Given the description of an element on the screen output the (x, y) to click on. 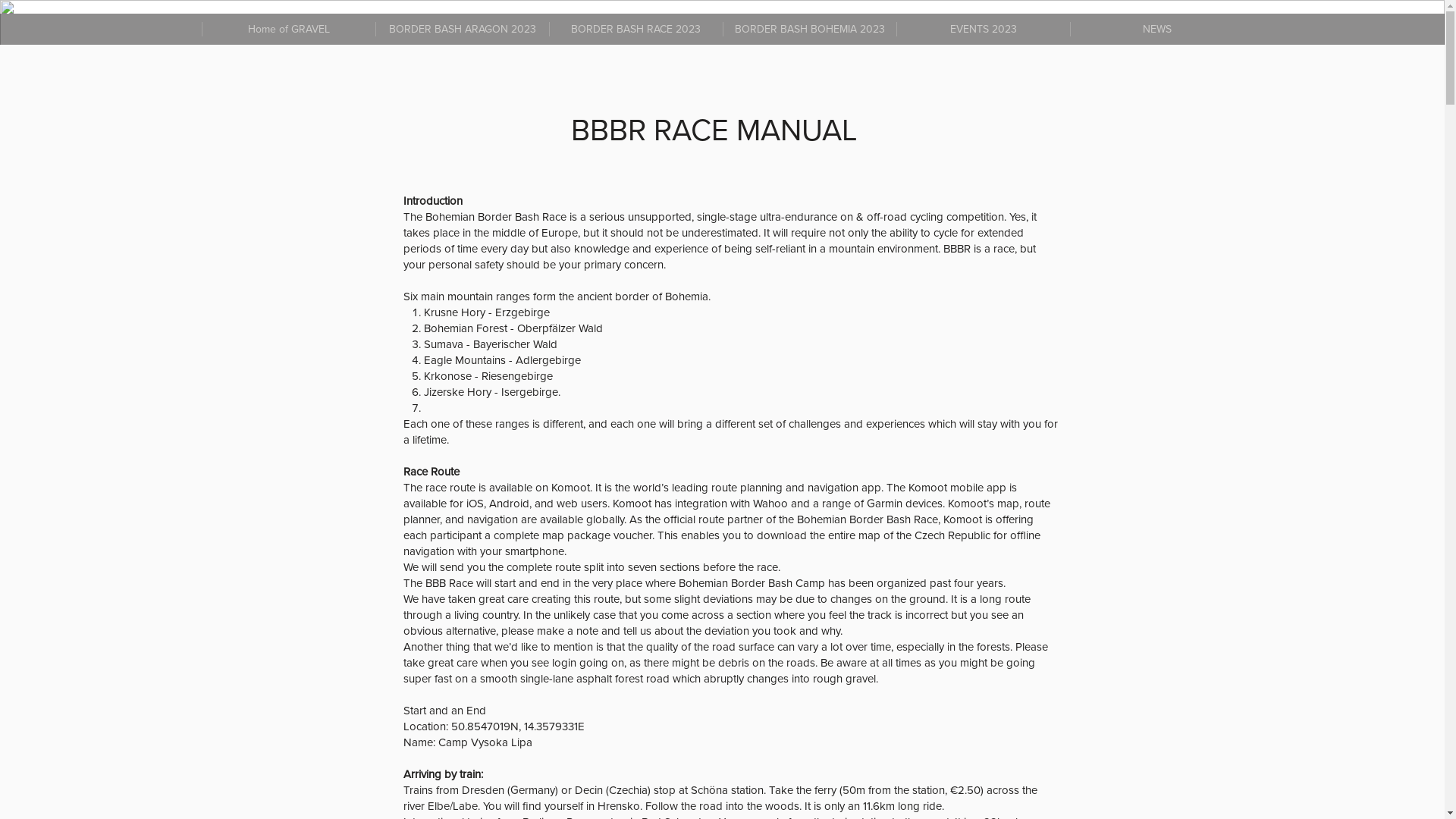
EVENTS 2023 Element type: text (983, 28)
NEWS Element type: text (1155, 28)
BORDER BASH BOHEMIA 2023 Element type: text (808, 28)
Home of GRAVEL Element type: text (288, 28)
BORDER BASH RACE 2023 Element type: text (635, 28)
BORDER BASH ARAGON 2023 Element type: text (461, 28)
